Given the description of an element on the screen output the (x, y) to click on. 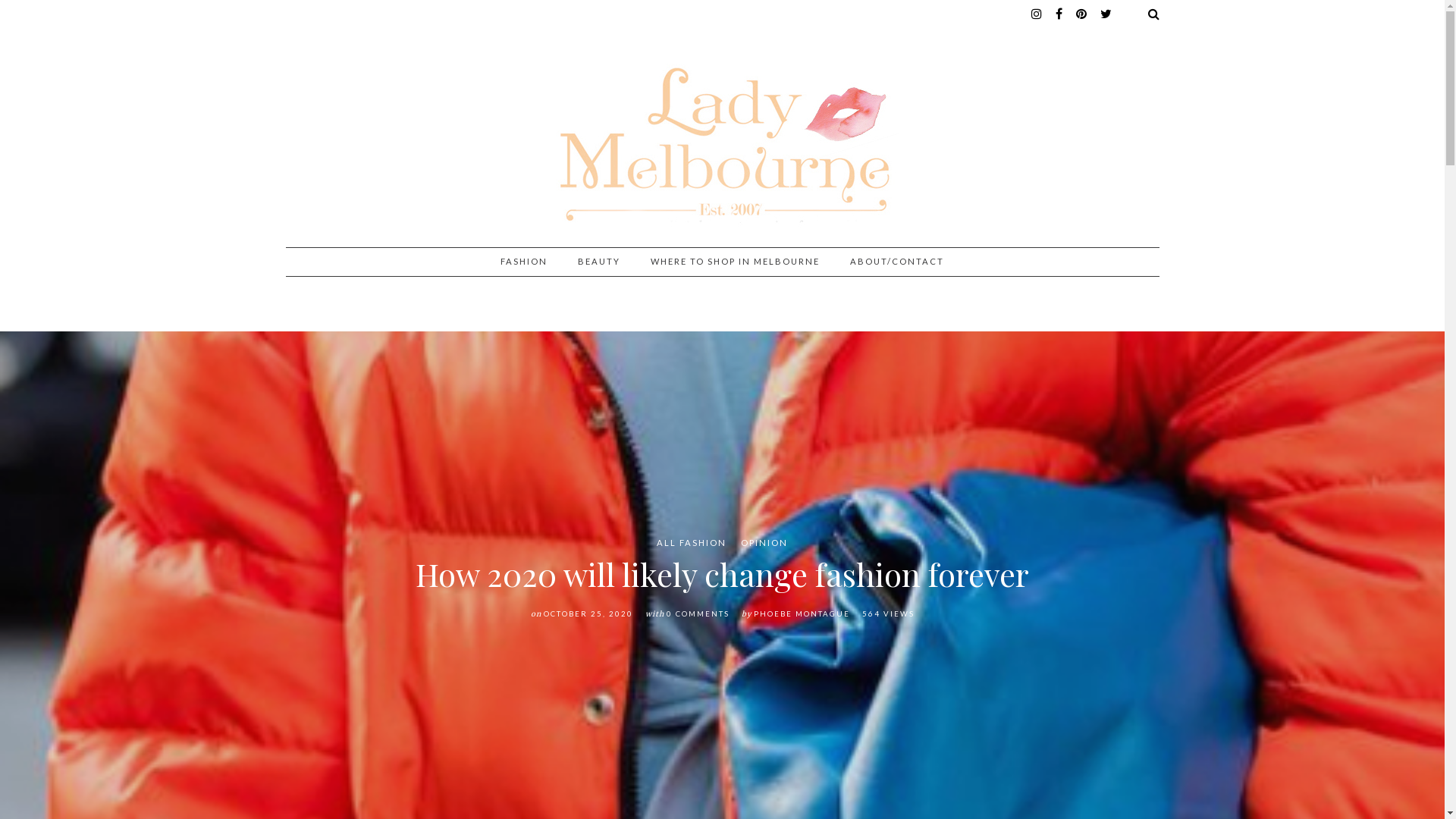
0 COMMENTS Element type: text (696, 613)
ABOUT/CONTACT Element type: text (897, 261)
BEAUTY Element type: text (598, 261)
ALL FASHION Element type: text (691, 543)
FASHION Element type: text (523, 261)
OPINION Element type: text (763, 543)
WHERE TO SHOP IN MELBOURNE Element type: text (734, 261)
PHOEBE MONTAGUE Element type: text (801, 613)
